Given the description of an element on the screen output the (x, y) to click on. 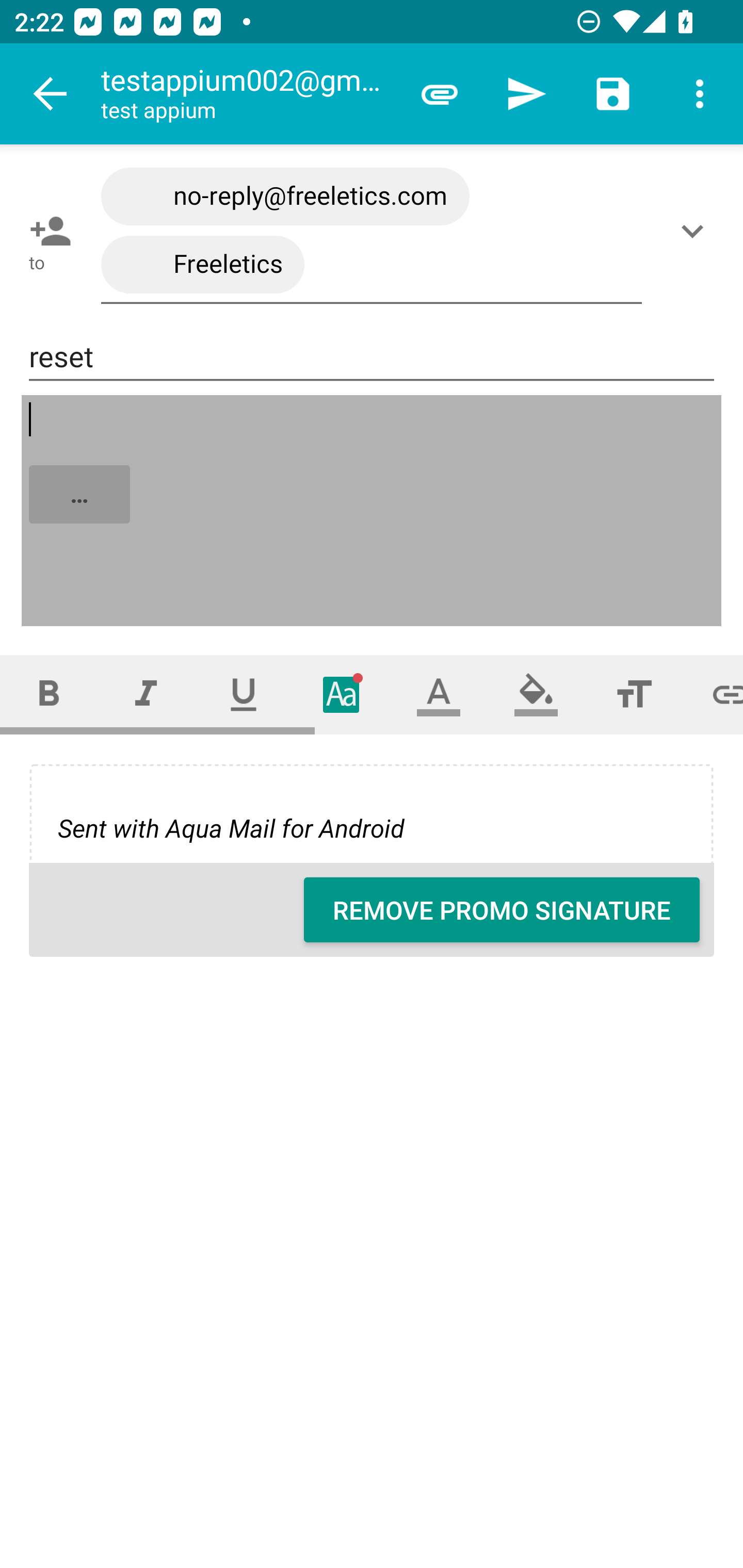
Navigate up (50, 93)
testappium002@gmail.com test appium (248, 93)
Attach (439, 93)
Send (525, 93)
Save (612, 93)
More options (699, 93)
Pick contact: To (46, 231)
Show/Add CC/BCC (696, 231)
reset (371, 356)

…
 (372, 511)
Bold (48, 694)
Italic (145, 694)
Underline (243, 694)
Typeface (font) (341, 694)
Text color (438, 694)
Fill color (536, 694)
Font size (633, 694)
REMOVE PROMO SIGNATURE (501, 910)
